Given the description of an element on the screen output the (x, y) to click on. 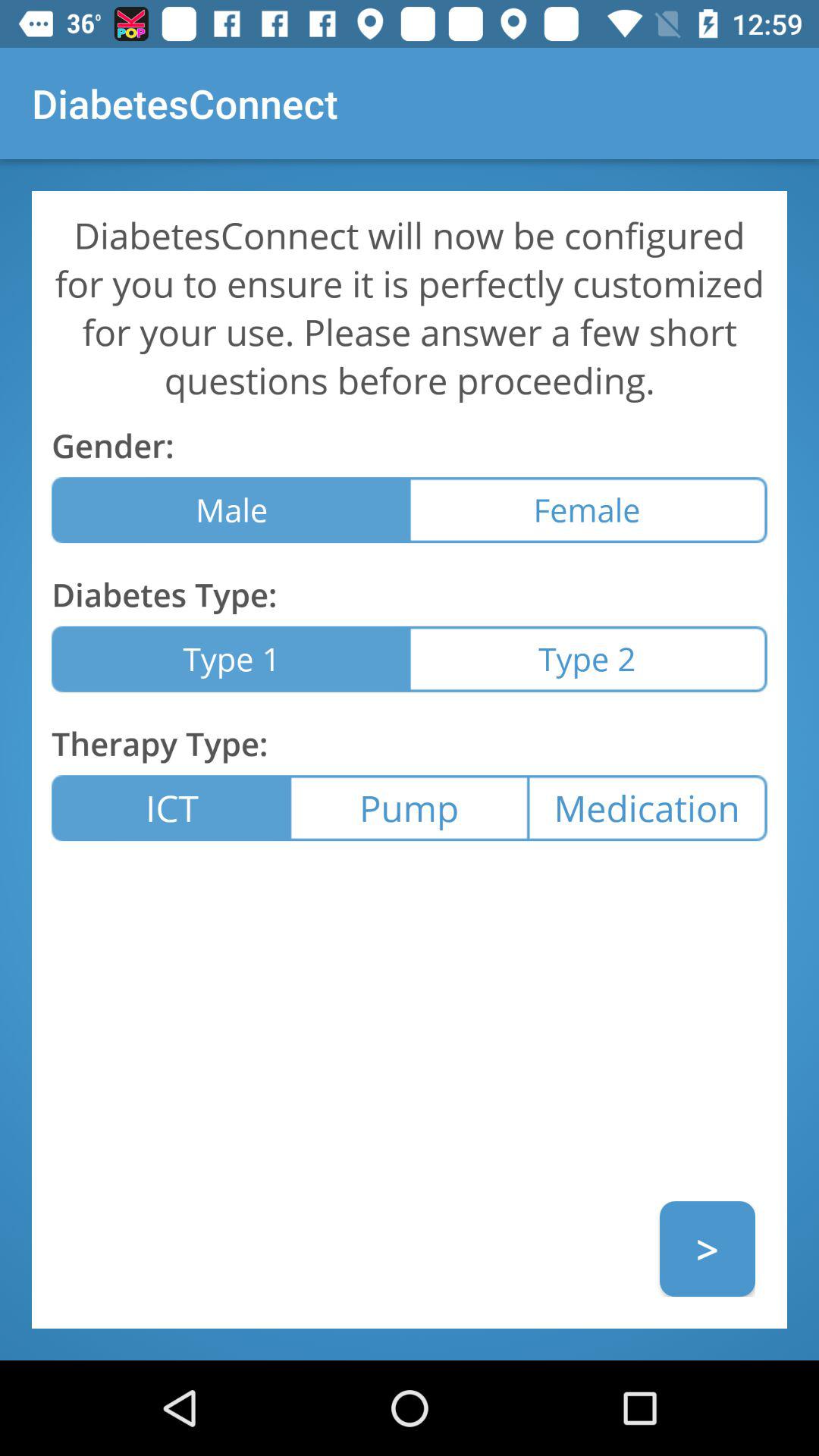
select item below the type 1 item (409, 808)
